Given the description of an element on the screen output the (x, y) to click on. 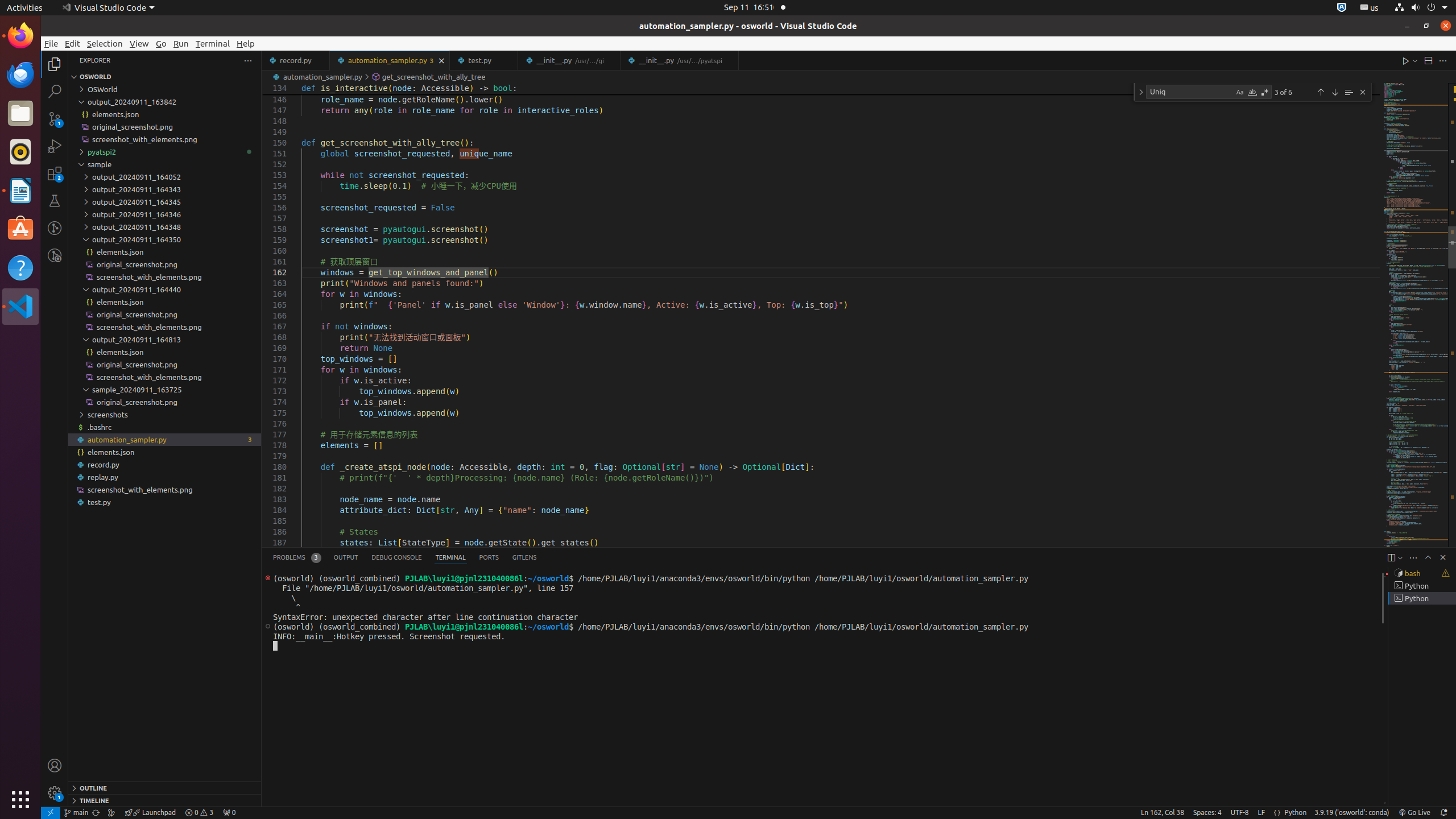
More Actions... Element type: push-button (1442, 60)
record.py Element type: page-tab (295, 60)
Firefox Web Browser Element type: push-button (20, 35)
Output (Ctrl+K Ctrl+H) Element type: page-tab (345, 557)
Extensions (Ctrl+Shift+X) - 2 require update Element type: page-tab (54, 173)
